Given the description of an element on the screen output the (x, y) to click on. 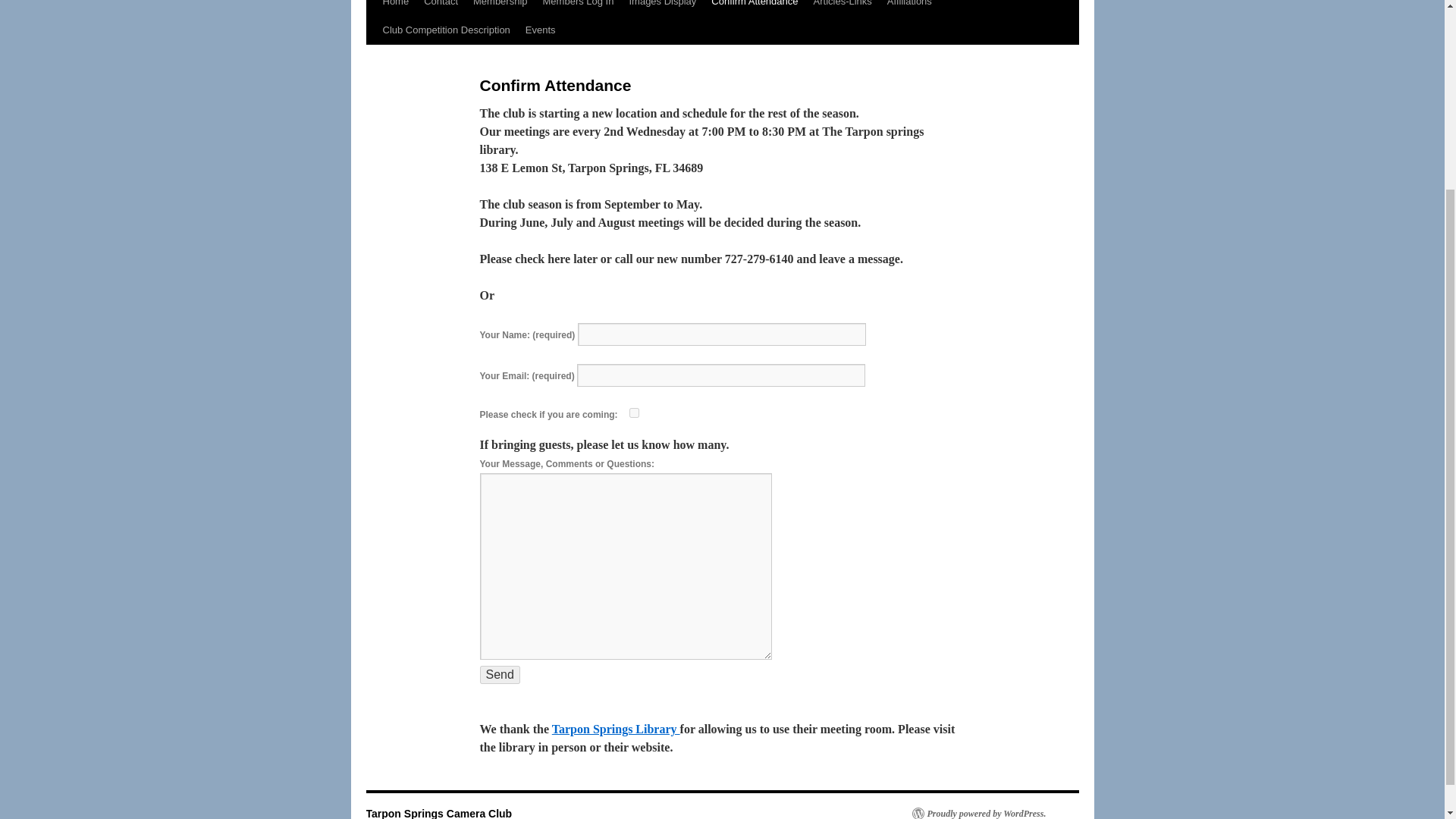
Members Log In (578, 7)
Tarpon Springs Library (615, 728)
Events (540, 30)
Membership (500, 7)
Images Display (662, 7)
Contact (440, 7)
1 (633, 412)
Articles-Links (842, 7)
Confirm Attendance (754, 7)
Send (499, 674)
